Given the description of an element on the screen output the (x, y) to click on. 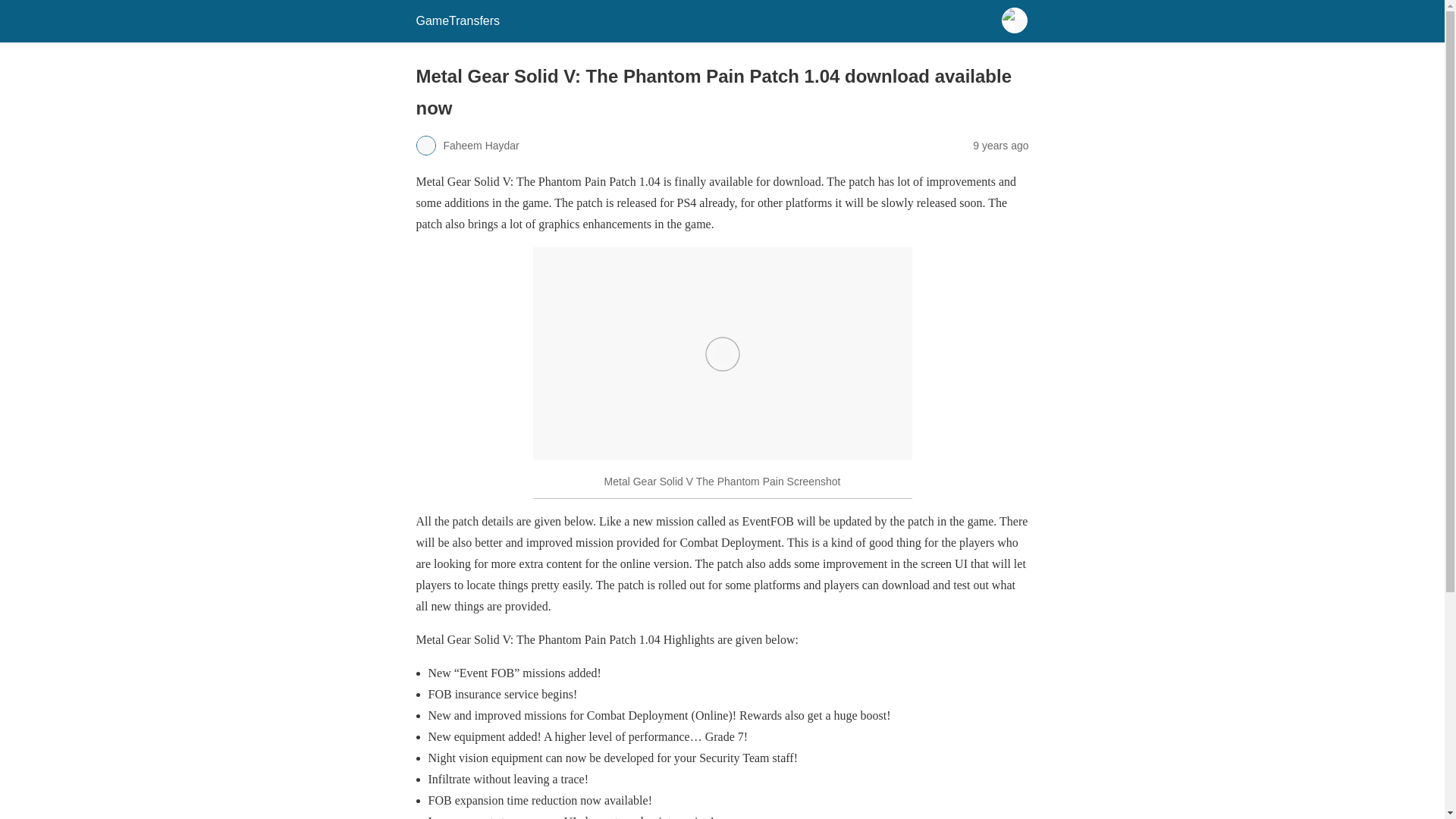
GameTransfers (456, 20)
